Given the description of an element on the screen output the (x, y) to click on. 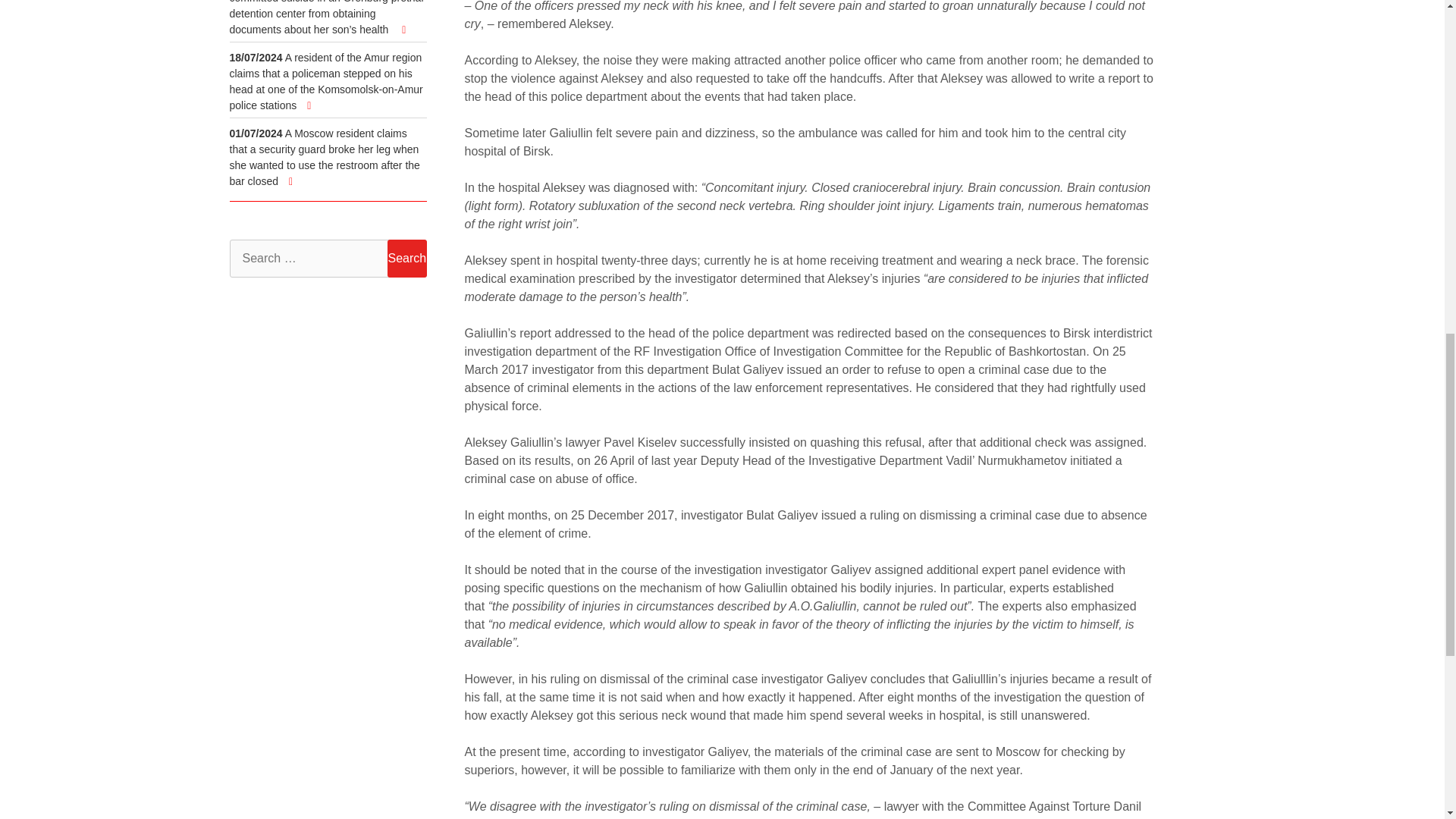
Search (406, 258)
Search (406, 258)
Search (406, 258)
